Given the description of an element on the screen output the (x, y) to click on. 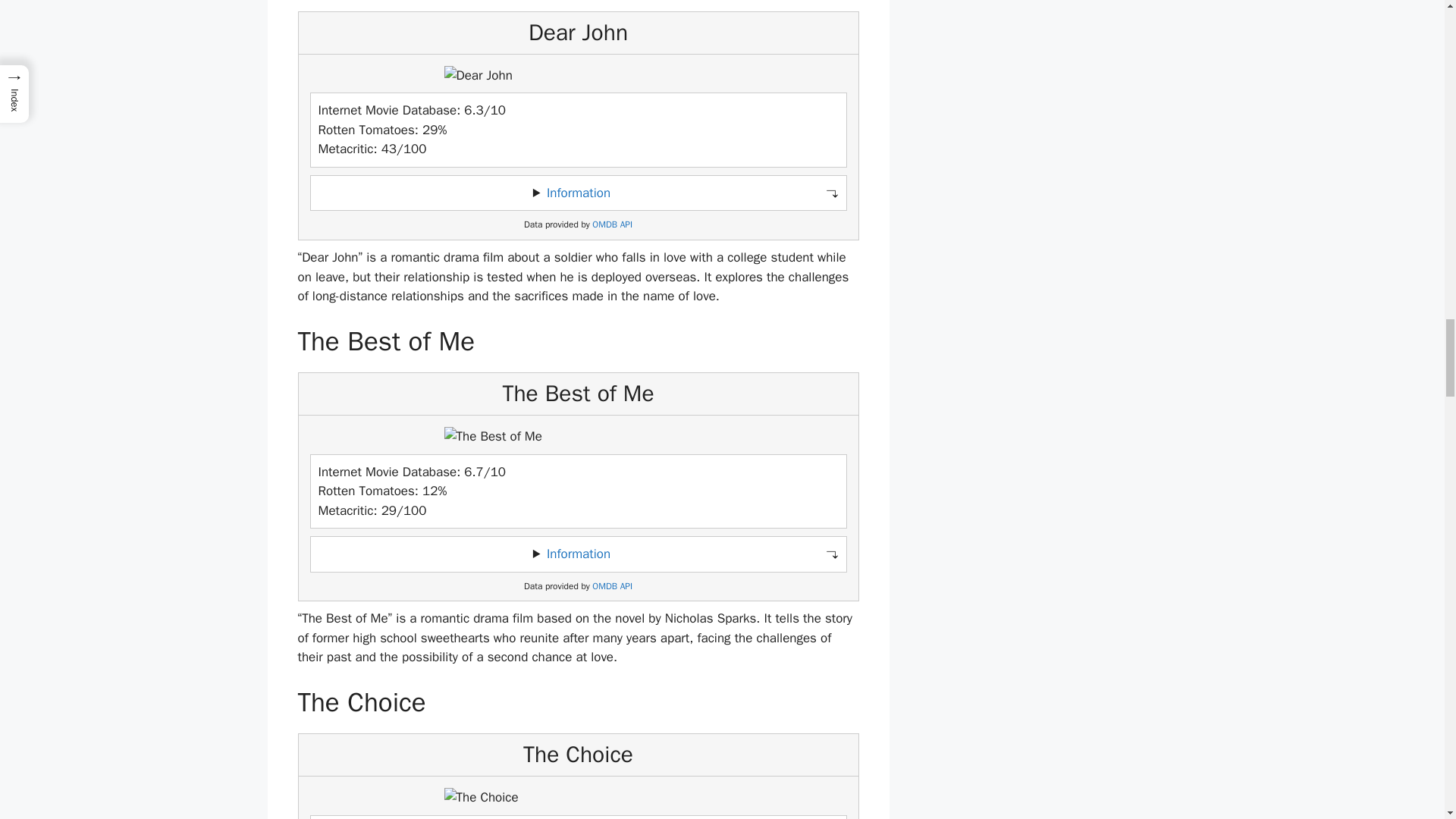
Information (578, 192)
Information (578, 553)
OMDB API (611, 586)
OMDB API (611, 224)
